Given the description of an element on the screen output the (x, y) to click on. 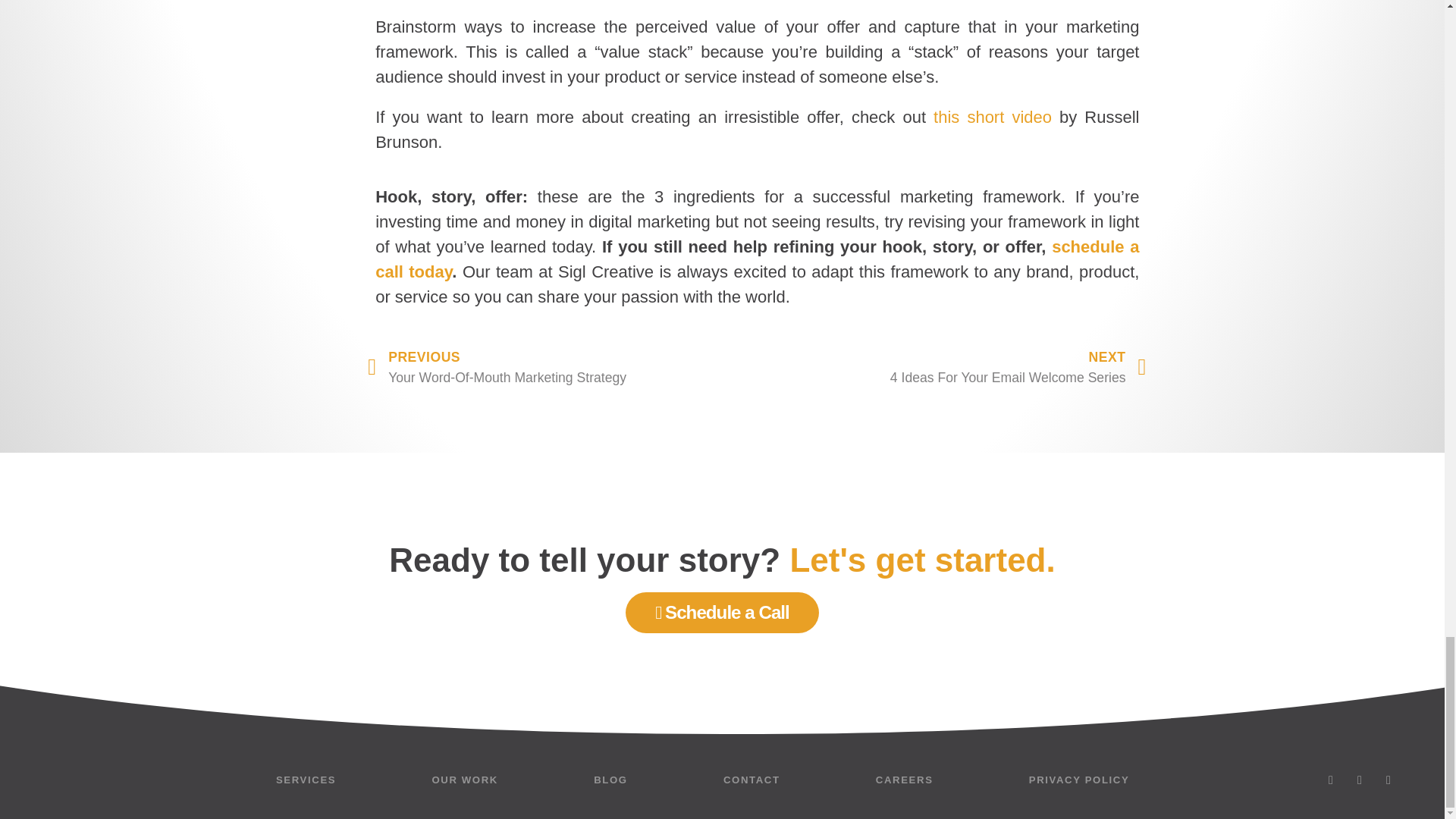
schedule a call today (756, 259)
SERVICES (306, 779)
BLOG (951, 367)
CONTACT (610, 779)
OUR WORK (751, 779)
this short video (463, 779)
CAREERS (992, 116)
PRIVACY POLICY (904, 779)
